Given the description of an element on the screen output the (x, y) to click on. 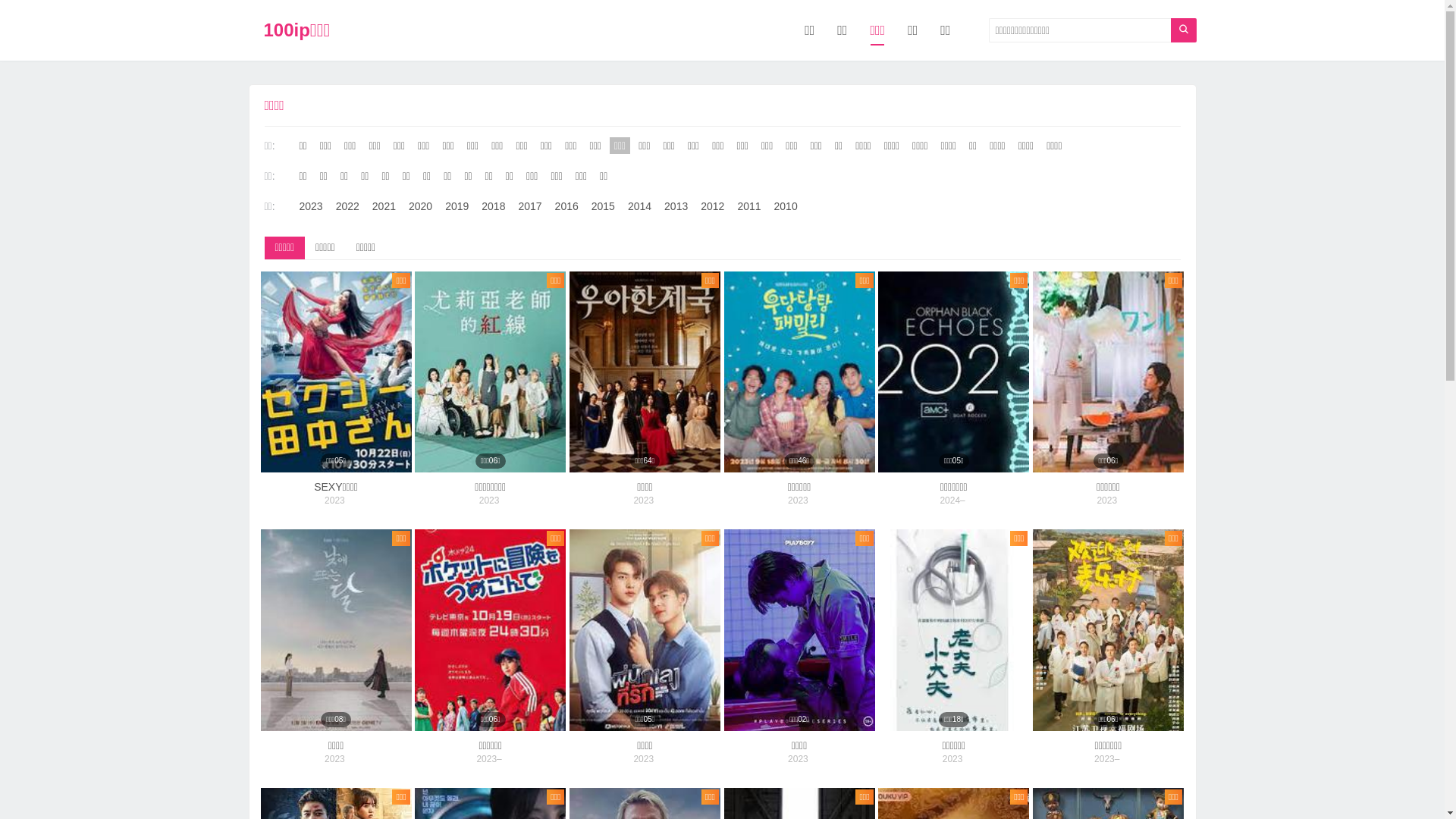
2014 Element type: text (639, 205)
2023 Element type: text (797, 500)
2019 Element type: text (456, 205)
2010 Element type: text (785, 205)
2023 Element type: text (334, 758)
2021 Element type: text (383, 205)
2023 Element type: text (797, 758)
2023 Element type: text (643, 500)
2011 Element type: text (748, 205)
2020 Element type: text (420, 205)
2023 Element type: text (310, 205)
2023 Element type: text (952, 758)
2012 Element type: text (712, 205)
2022 Element type: text (347, 205)
2015 Element type: text (602, 205)
2013 Element type: text (675, 205)
2023 Element type: text (334, 500)
2017 Element type: text (529, 205)
2023 Element type: text (1106, 500)
2018 Element type: text (492, 205)
2016 Element type: text (566, 205)
2023 Element type: text (643, 758)
2023 Element type: text (489, 500)
